Given the description of an element on the screen output the (x, y) to click on. 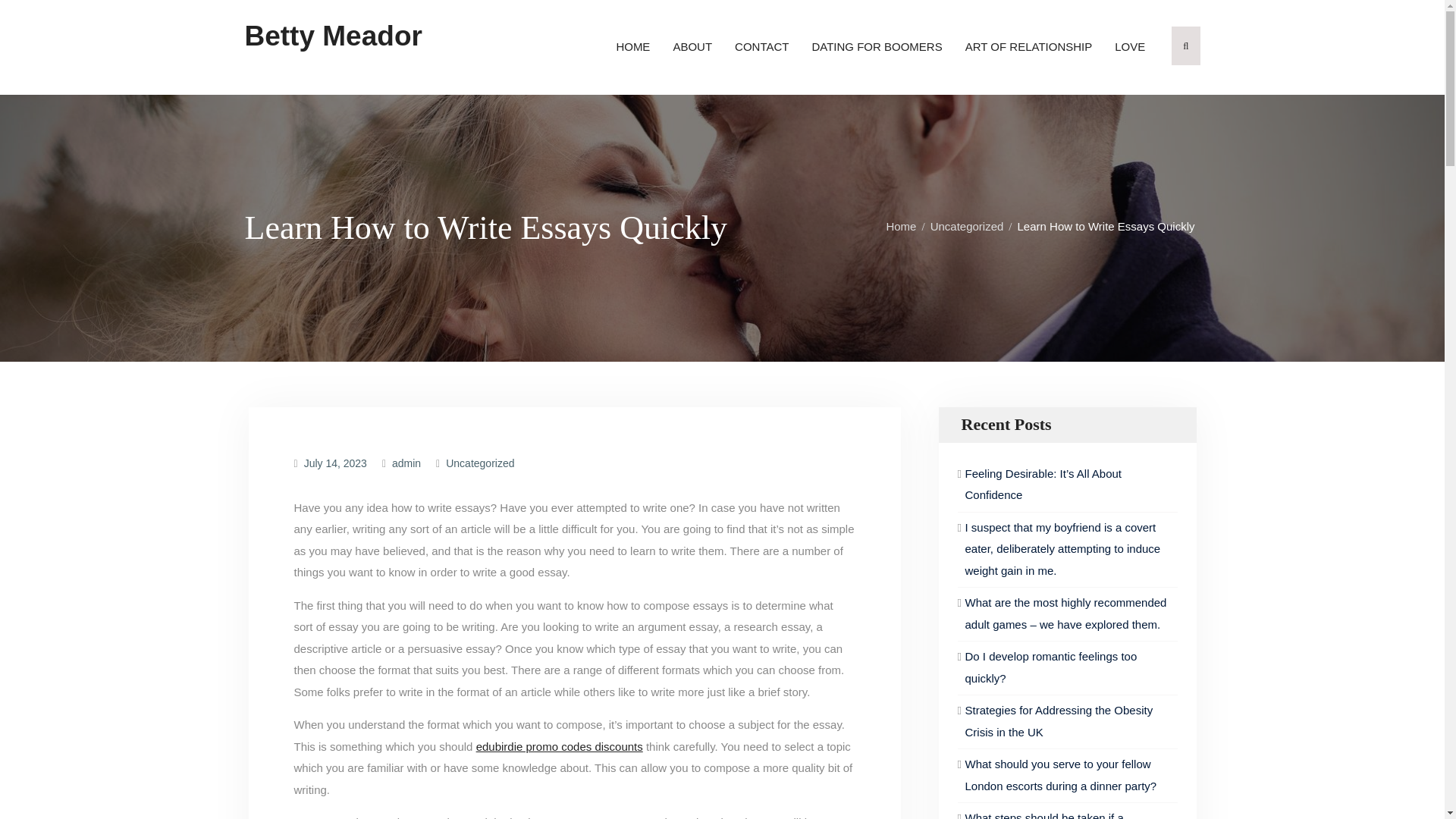
DATING FOR BOOMERS (876, 47)
Home (904, 226)
Uncategorized (479, 463)
CONTACT (761, 47)
ABOUT (692, 47)
Strategies for Addressing the Obesity Crisis in the UK (1058, 720)
Do I develop romantic feelings too quickly? (1050, 667)
HOME (632, 47)
edubirdie promo codes discounts (559, 746)
